Given the description of an element on the screen output the (x, y) to click on. 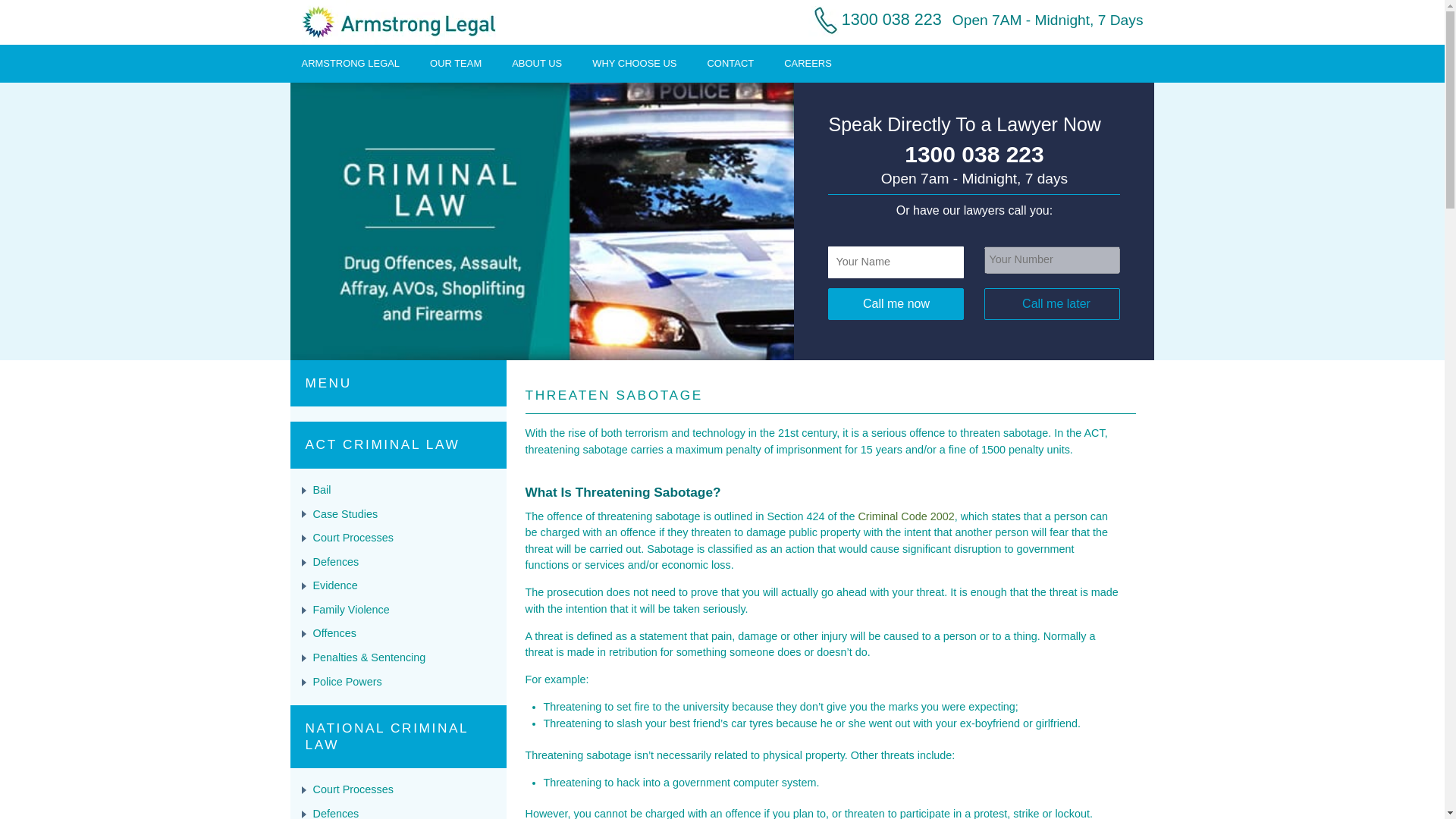
OUR TEAM (455, 62)
ARMSTRONG LEGAL (350, 62)
1300 038 223 Open 7AM - Midnight, 7 Days (970, 19)
WHY CHOOSE US (634, 62)
Call me now (895, 304)
1300 038 223 (973, 154)
CONTACT (730, 62)
Call me later (1051, 304)
CAREERS (807, 62)
Court Processes (353, 537)
Call me now (895, 304)
Bail (321, 490)
Case Studies (345, 513)
ABOUT US (537, 62)
